Given the description of an element on the screen output the (x, y) to click on. 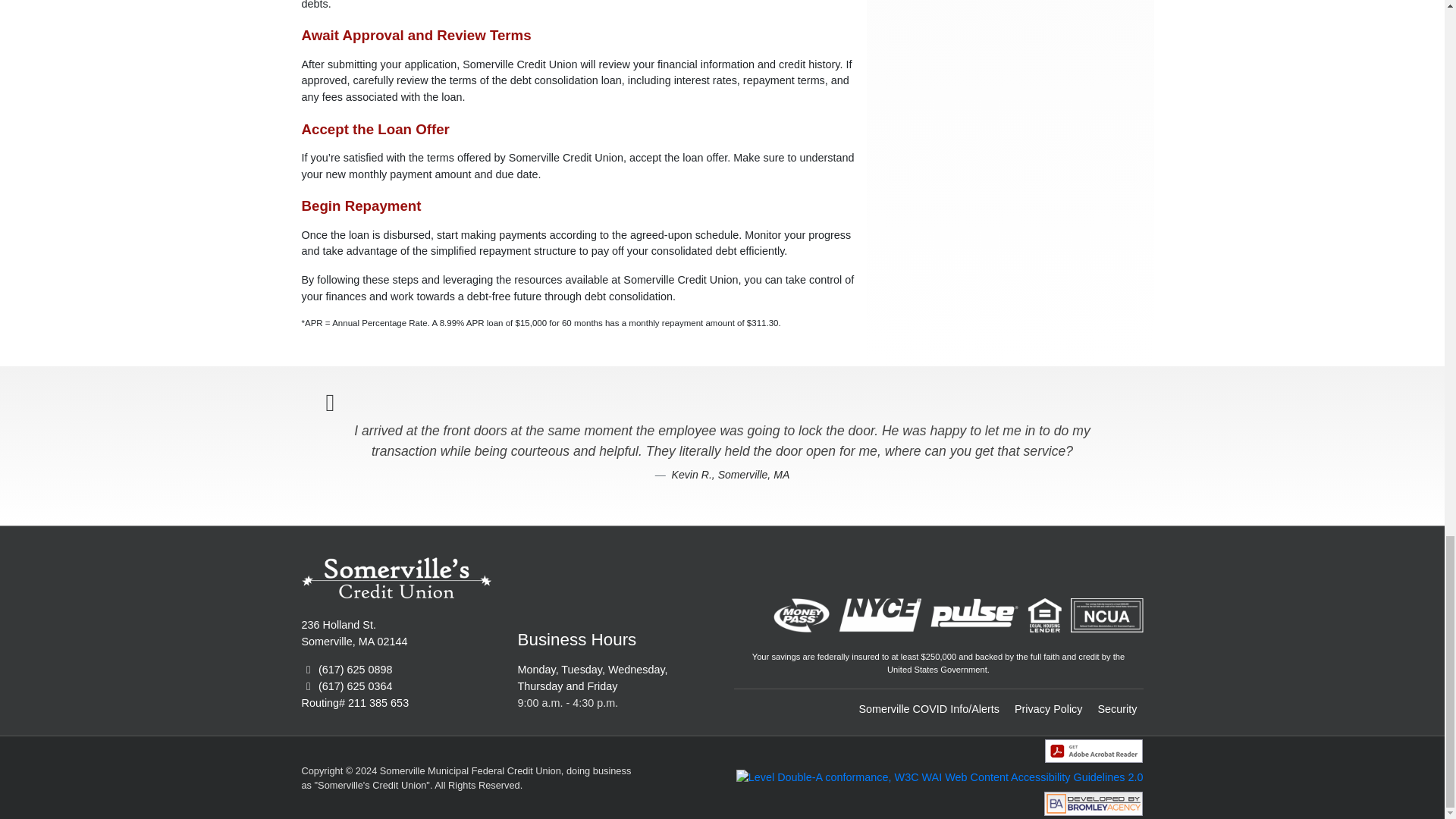
Explanation of WCAG 2.0 Level Double-A Conformance (939, 777)
